Given the description of an element on the screen output the (x, y) to click on. 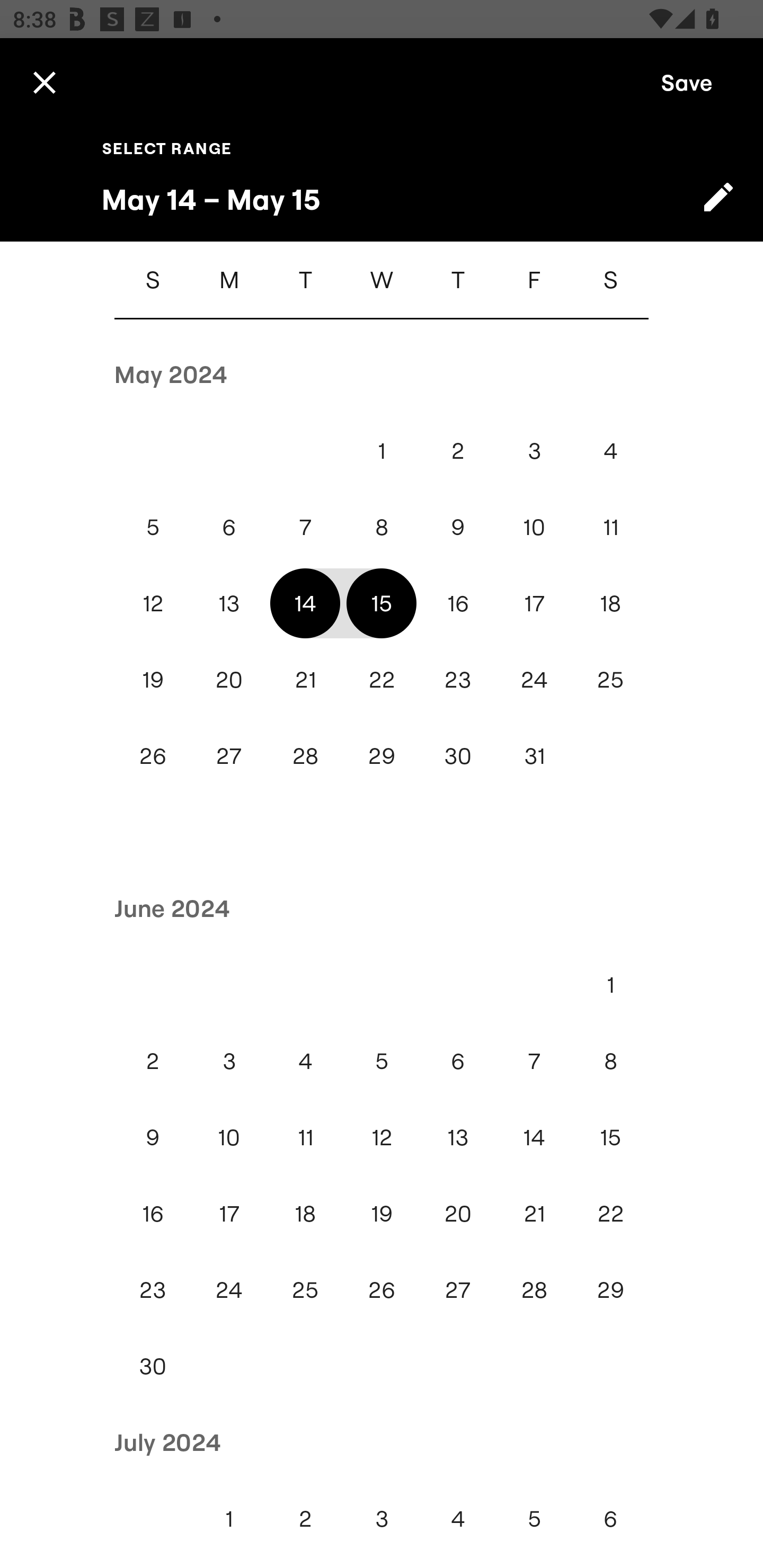
Cancel (44, 81)
Save (686, 81)
Switch to text input mode (718, 196)
1 Wed, May 1 (381, 450)
2 Thu, May 2 (457, 450)
3 Fri, May 3 (533, 450)
4 Sat, May 4 (610, 450)
5 Sun, May 5 (152, 526)
6 Mon, May 6 (228, 526)
7 Tue, May 7 (305, 526)
8 Wed, May 8 (381, 526)
9 Thu, May 9 (457, 526)
10 Fri, May 10 (533, 526)
11 Sat, May 11 (610, 526)
12 Sun, May 12 (152, 602)
13 Mon, May 13 (228, 602)
14 Tue, May 14 (305, 602)
15 Wed, May 15 (381, 602)
16 Thu, May 16 (457, 602)
17 Fri, May 17 (533, 602)
18 Sat, May 18 (610, 602)
19 Sun, May 19 (152, 679)
20 Mon, May 20 (228, 679)
21 Tue, May 21 (305, 679)
22 Wed, May 22 (381, 679)
23 Thu, May 23 (457, 679)
24 Fri, May 24 (533, 679)
25 Sat, May 25 (610, 679)
26 Sun, May 26 (152, 755)
27 Mon, May 27 (228, 755)
28 Tue, May 28 (305, 755)
29 Wed, May 29 (381, 755)
30 Thu, May 30 (457, 755)
31 Fri, May 31 (533, 755)
1 Sat, Jun 1 (610, 984)
2 Sun, Jun 2 (152, 1060)
3 Mon, Jun 3 (228, 1060)
4 Tue, Jun 4 (305, 1060)
5 Wed, Jun 5 (381, 1060)
6 Thu, Jun 6 (457, 1060)
7 Fri, Jun 7 (533, 1060)
8 Sat, Jun 8 (610, 1060)
9 Sun, Jun 9 (152, 1137)
10 Mon, Jun 10 (228, 1137)
11 Tue, Jun 11 (305, 1137)
12 Wed, Jun 12 (381, 1137)
13 Thu, Jun 13 (457, 1137)
14 Fri, Jun 14 (533, 1137)
15 Sat, Jun 15 (610, 1137)
16 Sun, Jun 16 (152, 1213)
17 Mon, Jun 17 (228, 1213)
18 Tue, Jun 18 (305, 1213)
19 Wed, Jun 19 (381, 1213)
20 Thu, Jun 20 (457, 1213)
21 Fri, Jun 21 (533, 1213)
22 Sat, Jun 22 (610, 1213)
23 Sun, Jun 23 (152, 1289)
24 Mon, Jun 24 (228, 1289)
25 Tue, Jun 25 (305, 1289)
26 Wed, Jun 26 (381, 1289)
27 Thu, Jun 27 (457, 1289)
28 Fri, Jun 28 (533, 1289)
29 Sat, Jun 29 (610, 1289)
30 Sun, Jun 30 (152, 1366)
1 Mon, Jul 1 (228, 1518)
2 Tue, Jul 2 (305, 1518)
3 Wed, Jul 3 (381, 1518)
4 Thu, Jul 4 (457, 1518)
5 Fri, Jul 5 (533, 1518)
6 Sat, Jul 6 (610, 1518)
